Given the description of an element on the screen output the (x, y) to click on. 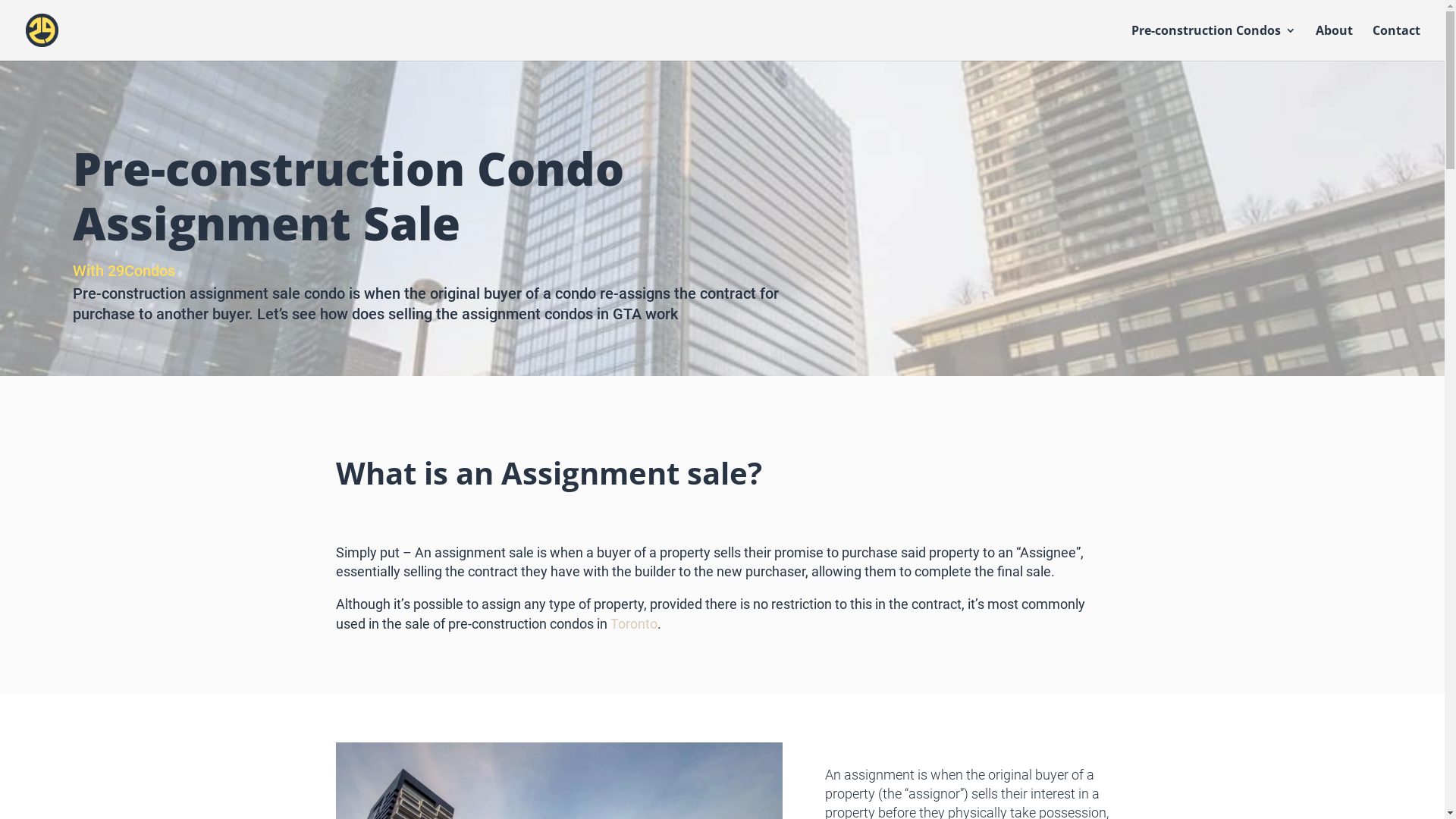
Pre-construction Condos Element type: text (1213, 42)
About Element type: text (1333, 42)
Toronto Element type: text (632, 623)
Contact Element type: text (1396, 42)
